Given the description of an element on the screen output the (x, y) to click on. 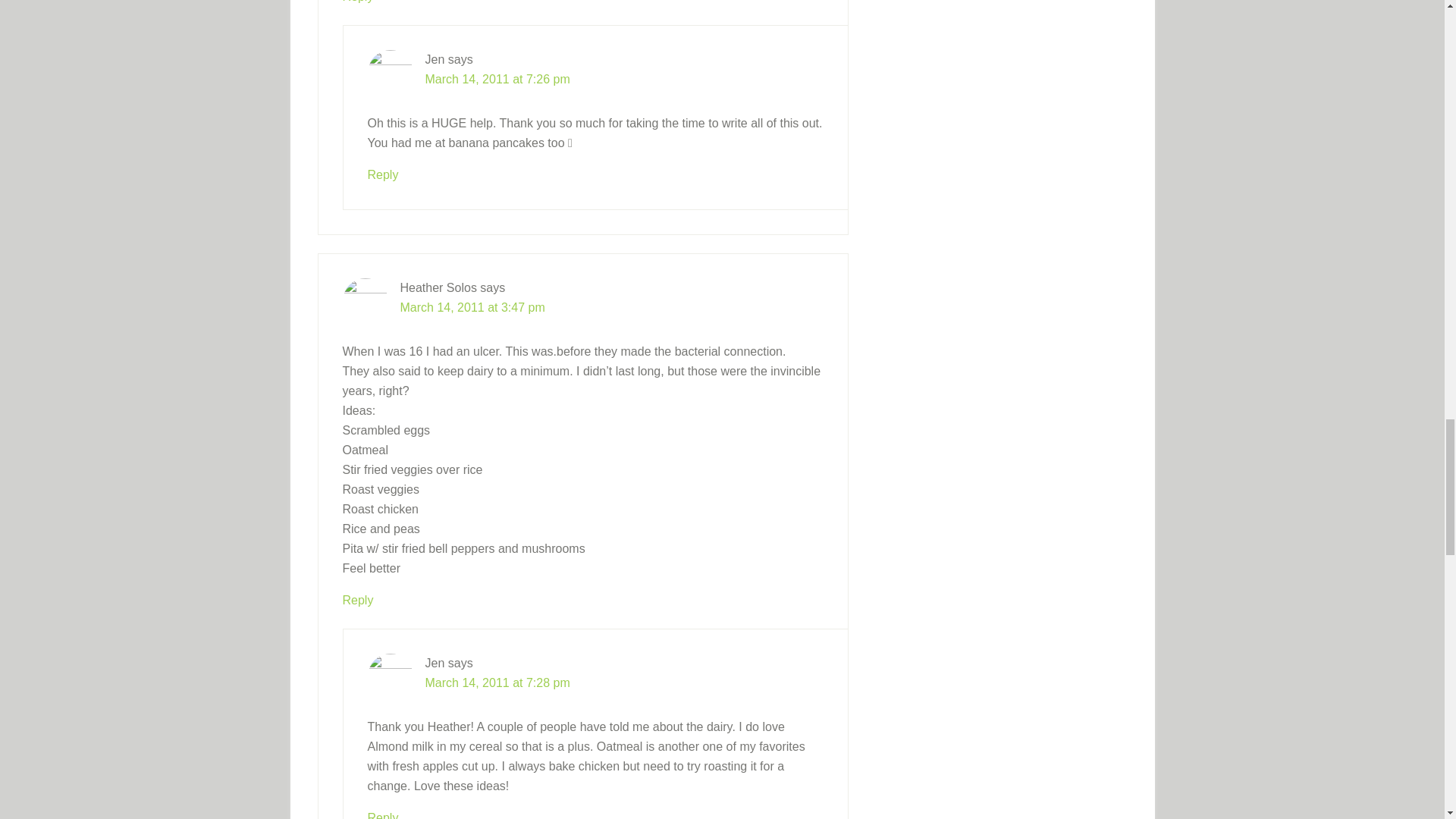
March 14, 2011 at 7:28 pm (497, 682)
March 14, 2011 at 3:47 pm (472, 306)
March 14, 2011 at 7:26 pm (497, 78)
Reply (381, 174)
Reply (381, 815)
Reply (358, 599)
Reply (358, 1)
